Given the description of an element on the screen output the (x, y) to click on. 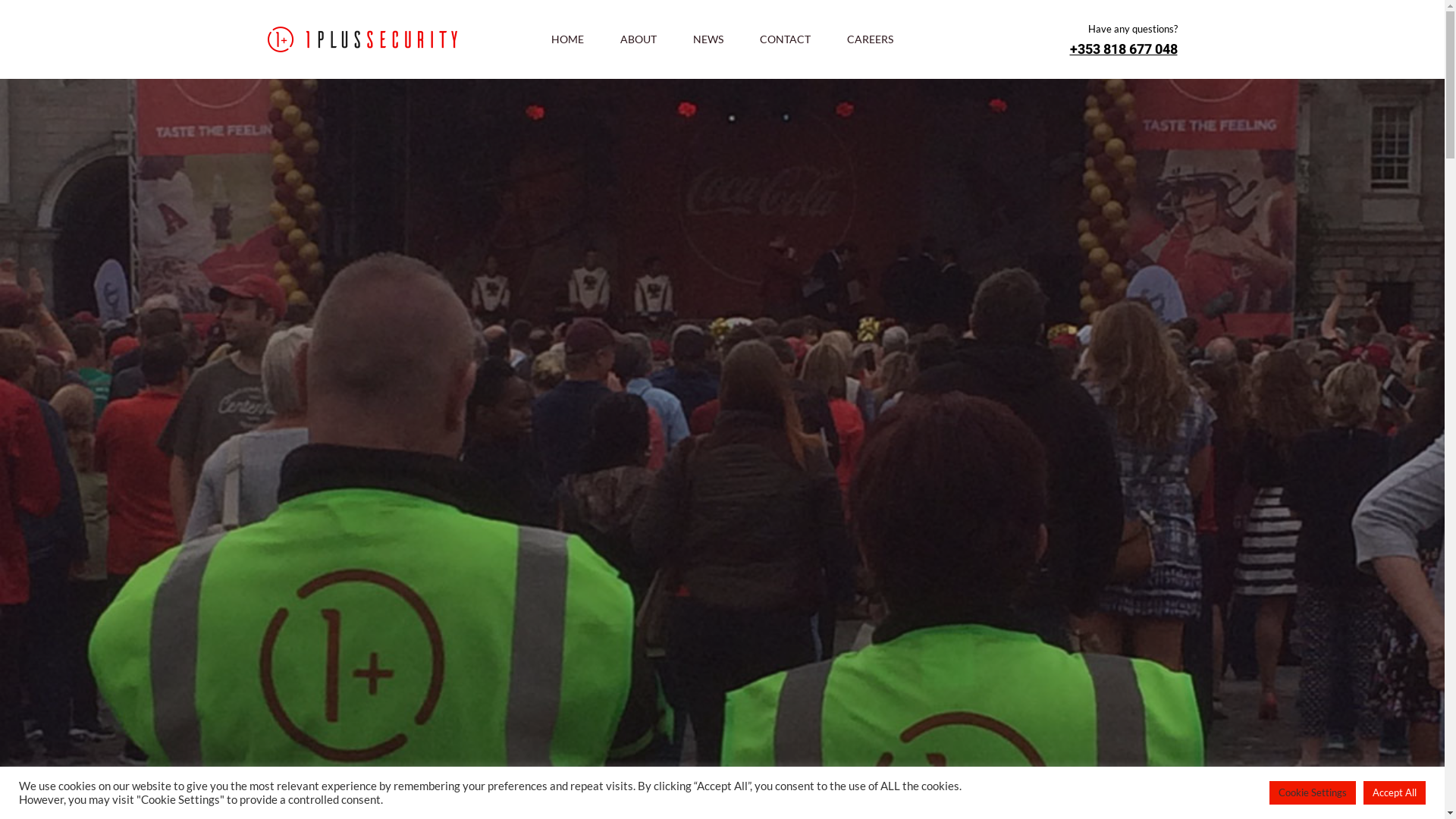
CAREERS Element type: text (869, 39)
Cookie Settings Element type: text (1312, 792)
ABOUT Element type: text (638, 39)
HOME Element type: text (567, 39)
NEWS Element type: text (707, 39)
+353 818 677 048 Element type: text (1122, 49)
Accept All Element type: text (1394, 792)
CONTACT Element type: text (784, 39)
